Given the description of an element on the screen output the (x, y) to click on. 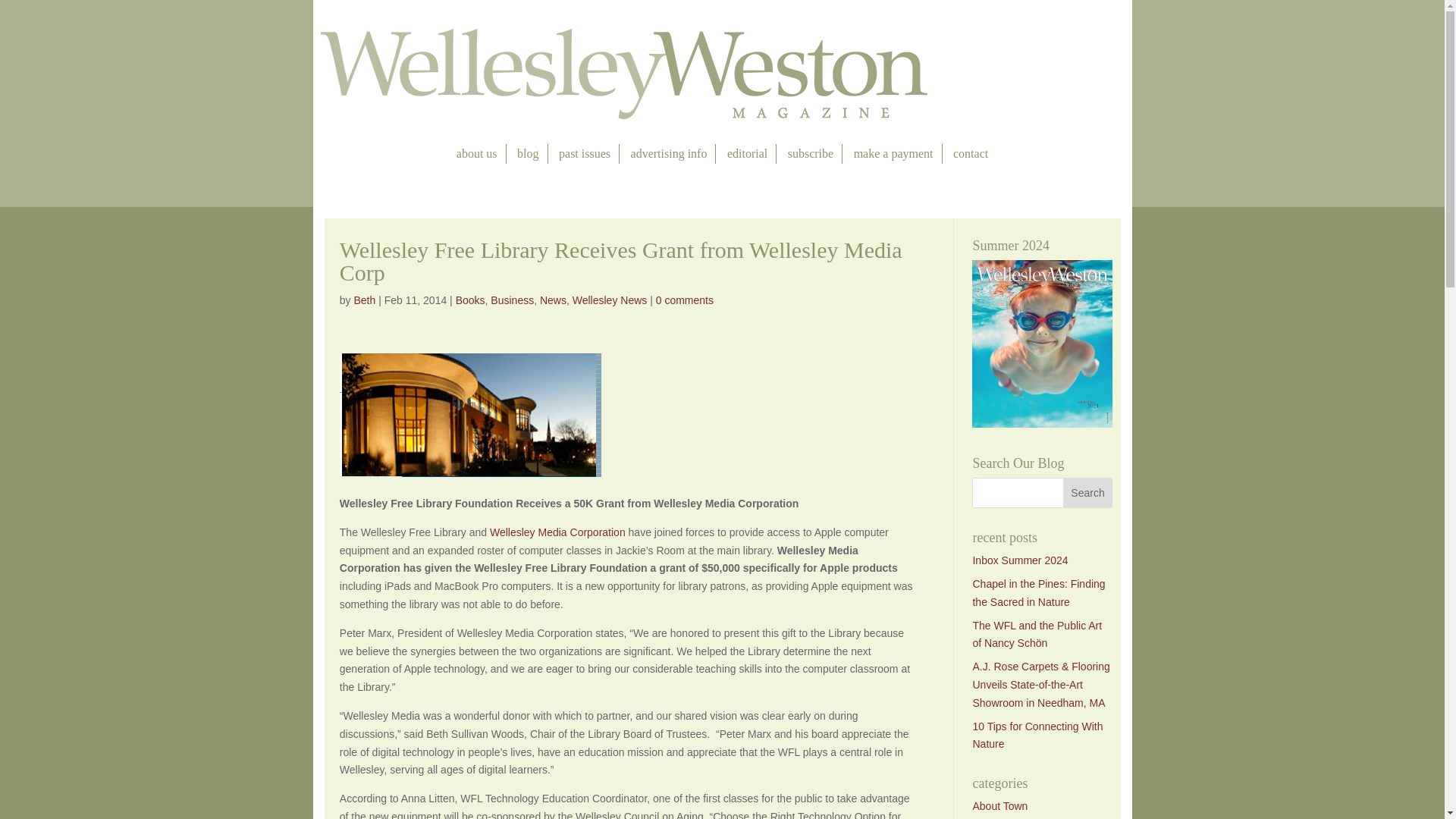
blog (527, 153)
Search (1087, 492)
subscribe (809, 153)
past issues (584, 153)
Beth (364, 300)
Business (512, 300)
make a payment (893, 153)
0 comments (684, 300)
About Town (999, 806)
Books (469, 300)
